Given the description of an element on the screen output the (x, y) to click on. 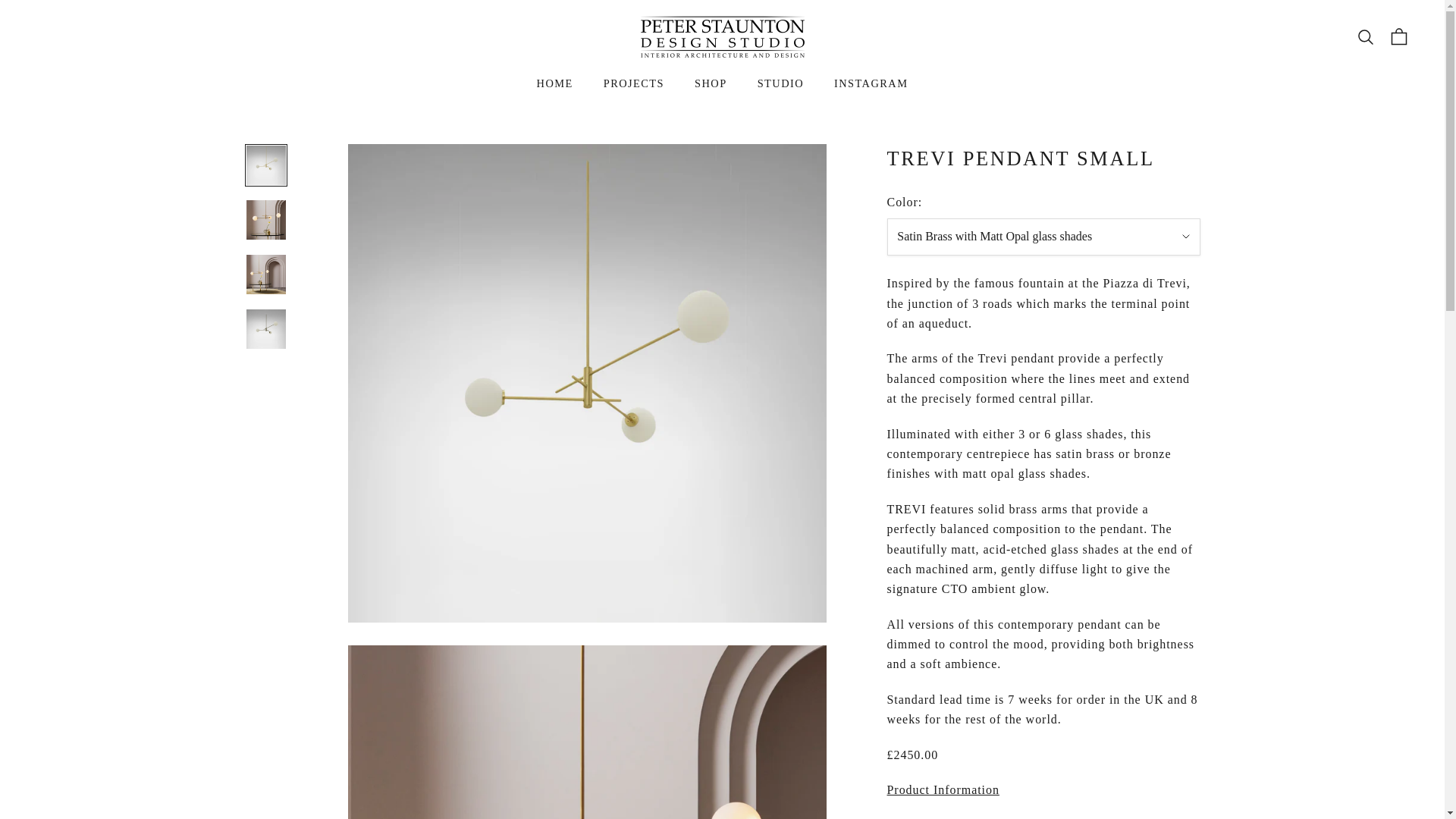
PROJECTS (633, 83)
Satin Brass with Matt Opal glass shades (1042, 236)
Peter Staunton Design Studio (722, 36)
Open search (1365, 36)
INSTAGRAM (870, 83)
Open cart (1398, 36)
HOME (555, 83)
